Given the description of an element on the screen output the (x, y) to click on. 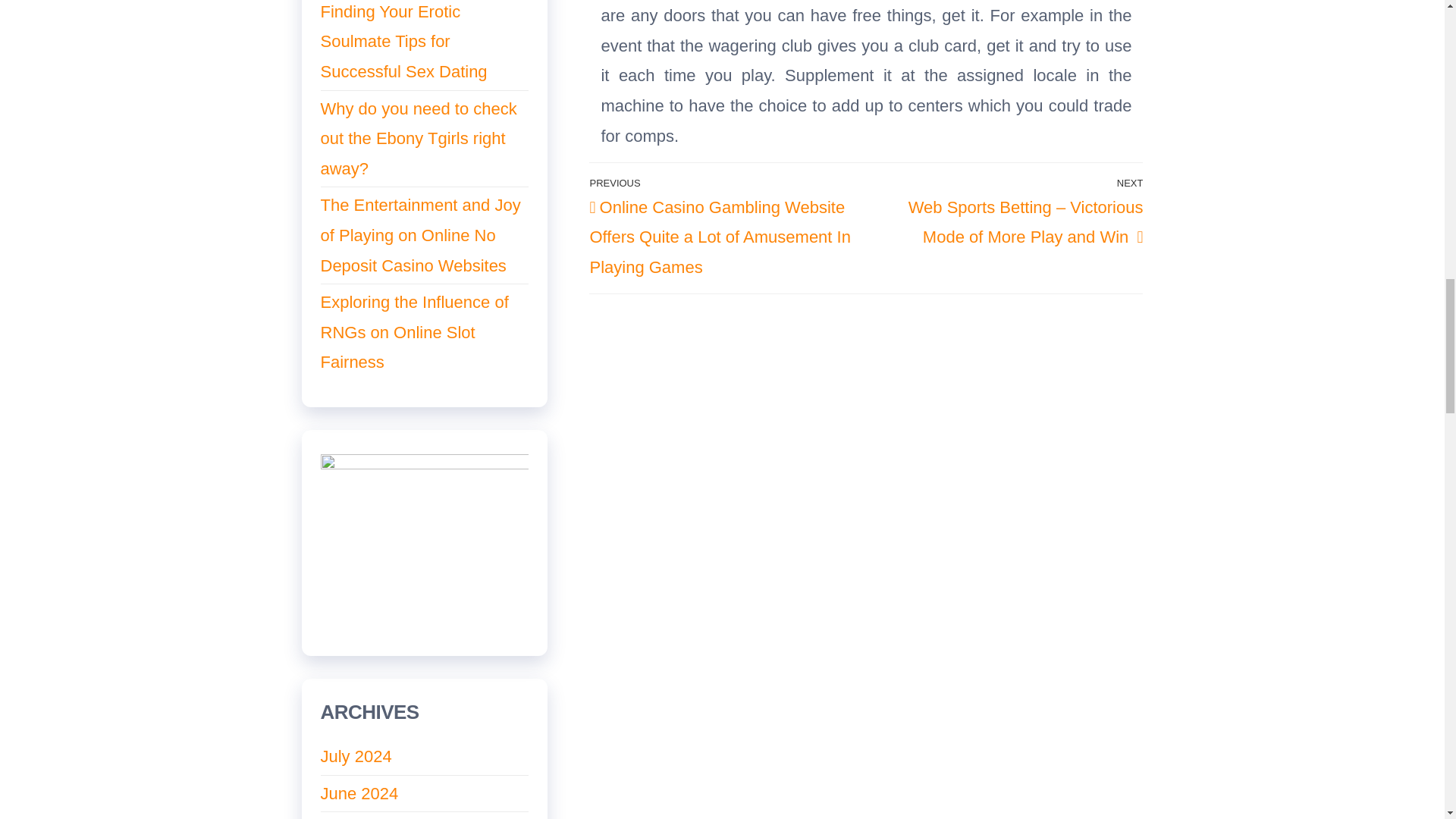
June 2024 (358, 793)
Finding Your Erotic Soulmate Tips for Successful Sex Dating (403, 41)
July 2024 (355, 755)
Why do you need to check out the Ebony Tgirls right away? (418, 138)
Exploring the Influence of RNGs on Online Slot Fairness (414, 331)
